Given the description of an element on the screen output the (x, y) to click on. 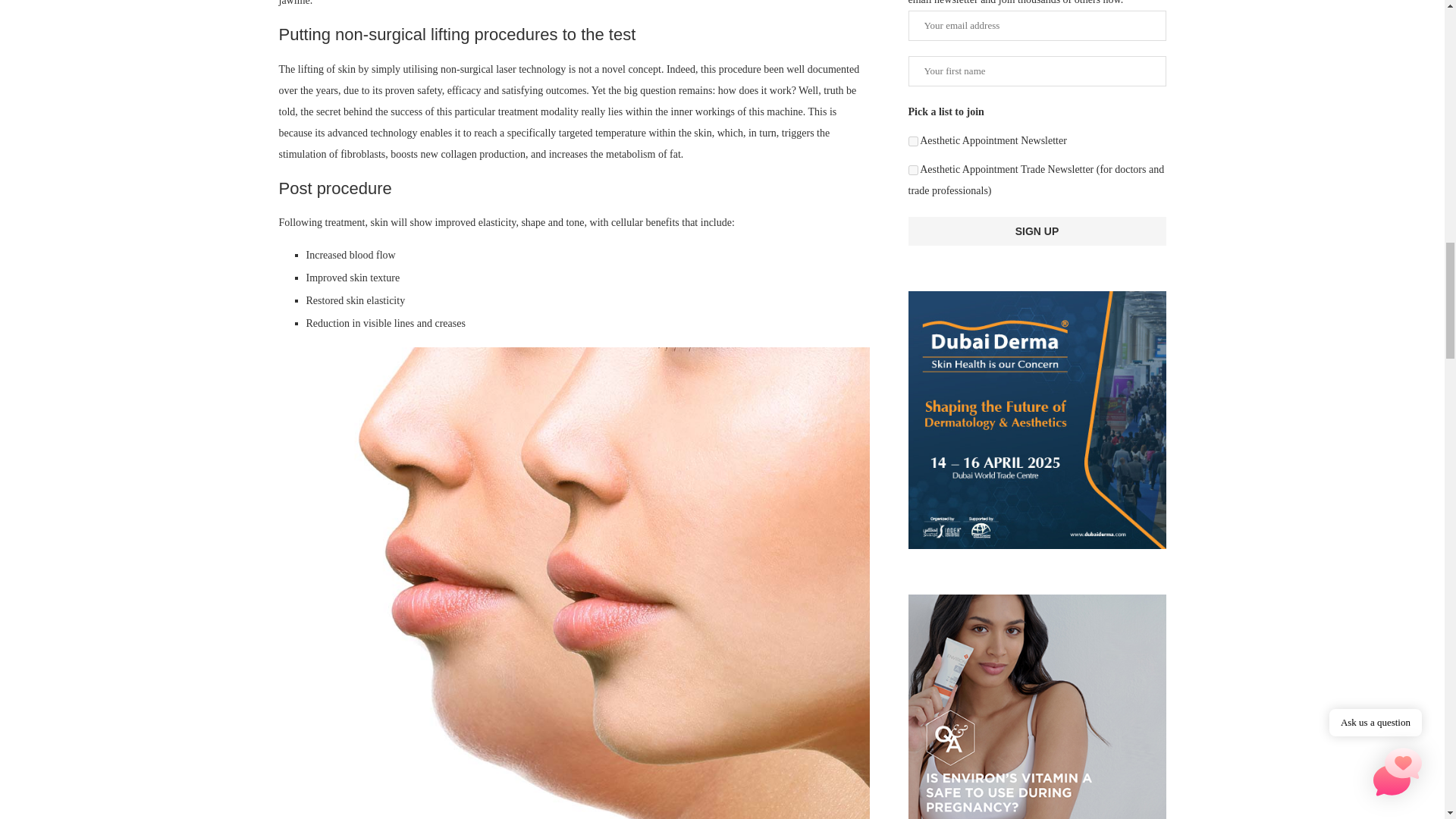
f1f0d68cfb (913, 141)
Sign up (1037, 231)
efa6b7853d (913, 170)
